Given the description of an element on the screen output the (x, y) to click on. 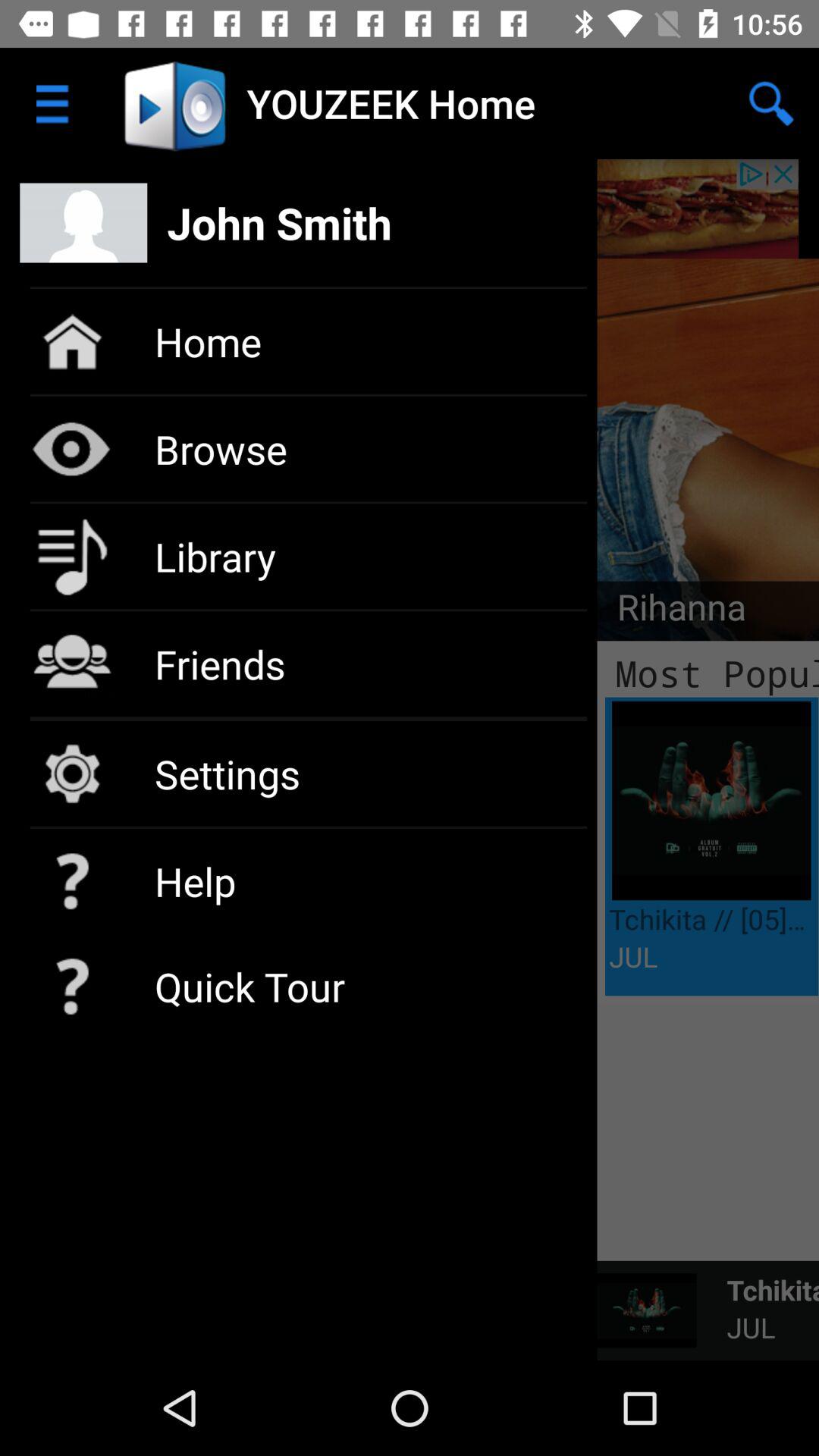
launch icon to the right of the library icon (671, 611)
